Given the description of an element on the screen output the (x, y) to click on. 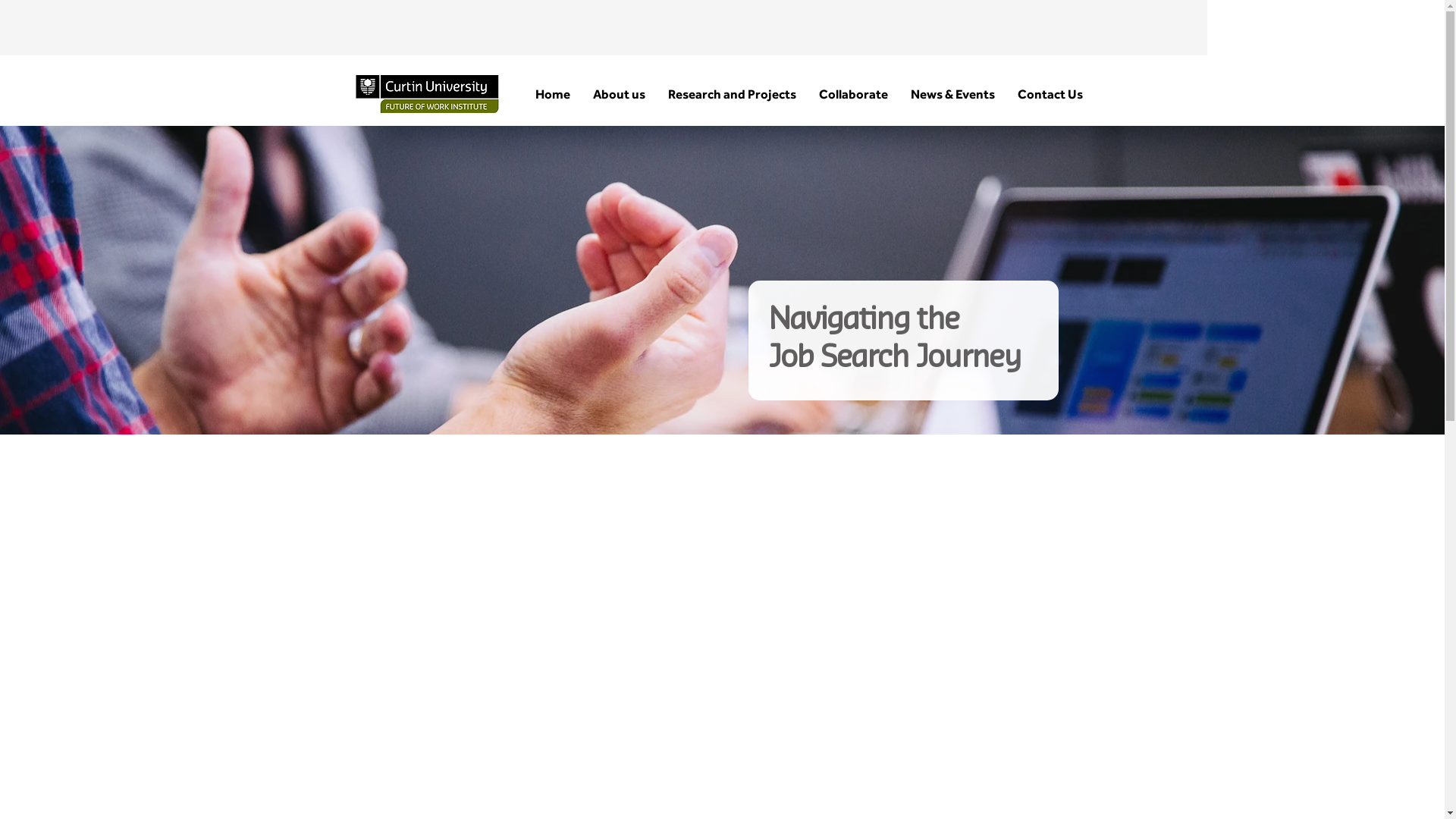
Collaborate Element type: text (852, 93)
Home Element type: text (551, 93)
Embedded Content Element type: hover (723, 636)
Site Search Element type: hover (740, 26)
Contact Us Element type: text (1049, 93)
